Given the description of an element on the screen output the (x, y) to click on. 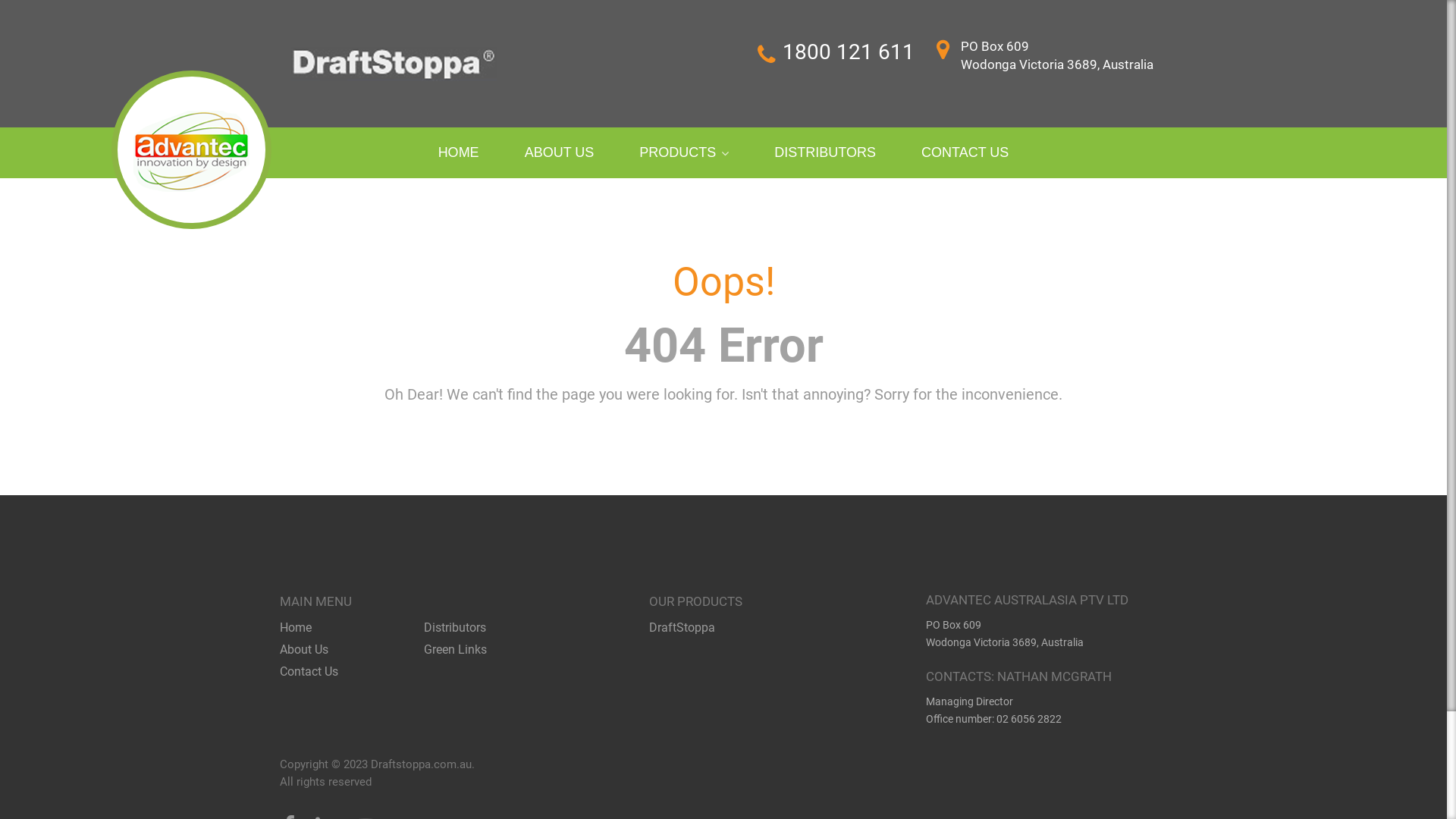
DISTRIBUTORS Element type: text (824, 152)
PRODUCTS Element type: text (683, 152)
Home Element type: text (295, 627)
Distributors Element type: text (454, 627)
1800 121 611 Element type: text (848, 51)
DraftStoppa Element type: text (682, 627)
ABOUT US Element type: text (559, 152)
HOME Element type: text (458, 152)
CONTACT US Element type: text (964, 152)
About Us Element type: text (303, 649)
Contact Us Element type: text (308, 671)
Green Links Element type: text (454, 649)
